Given the description of an element on the screen output the (x, y) to click on. 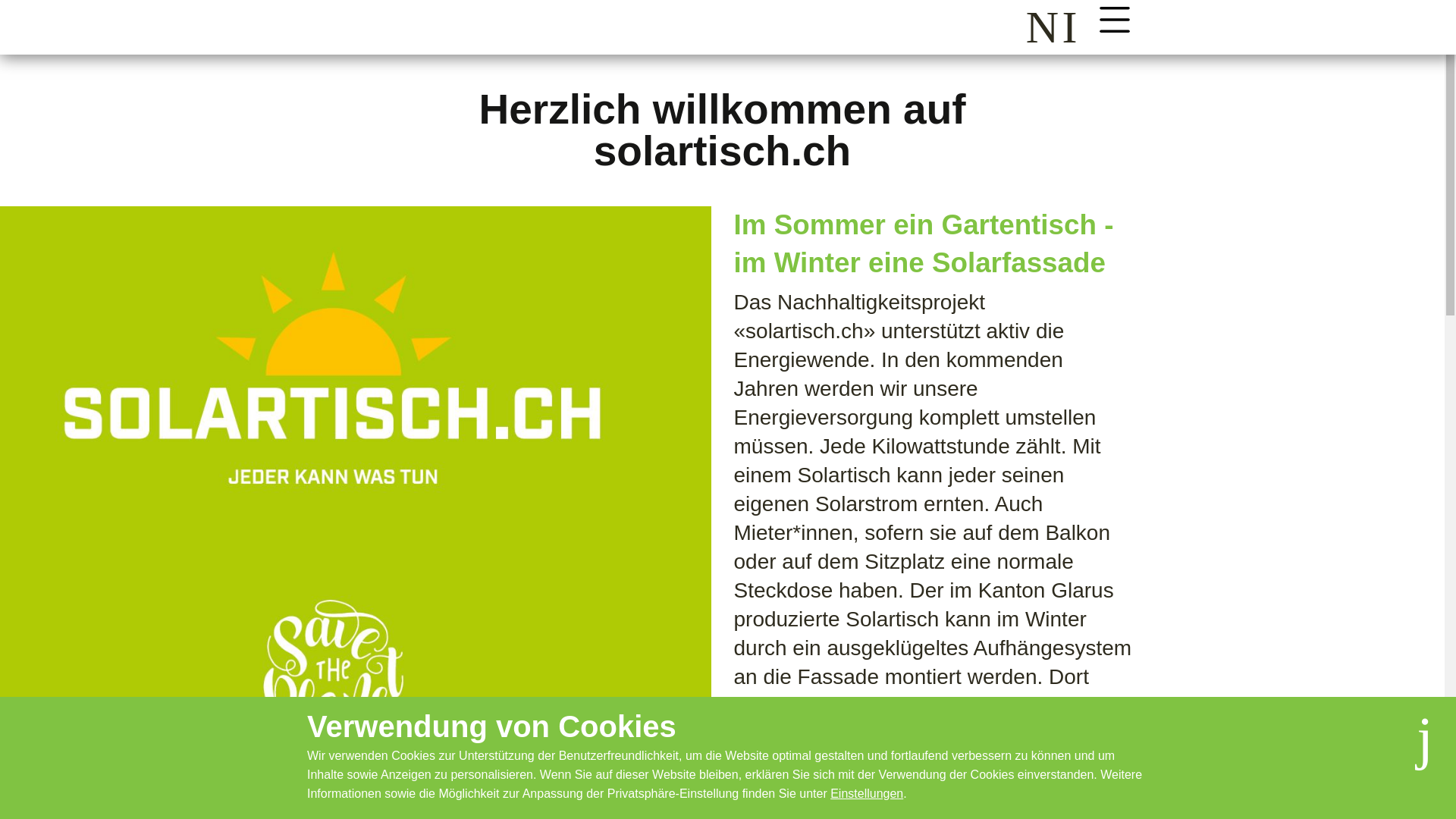
Einstellungen Element type: text (866, 793)
